Given the description of an element on the screen output the (x, y) to click on. 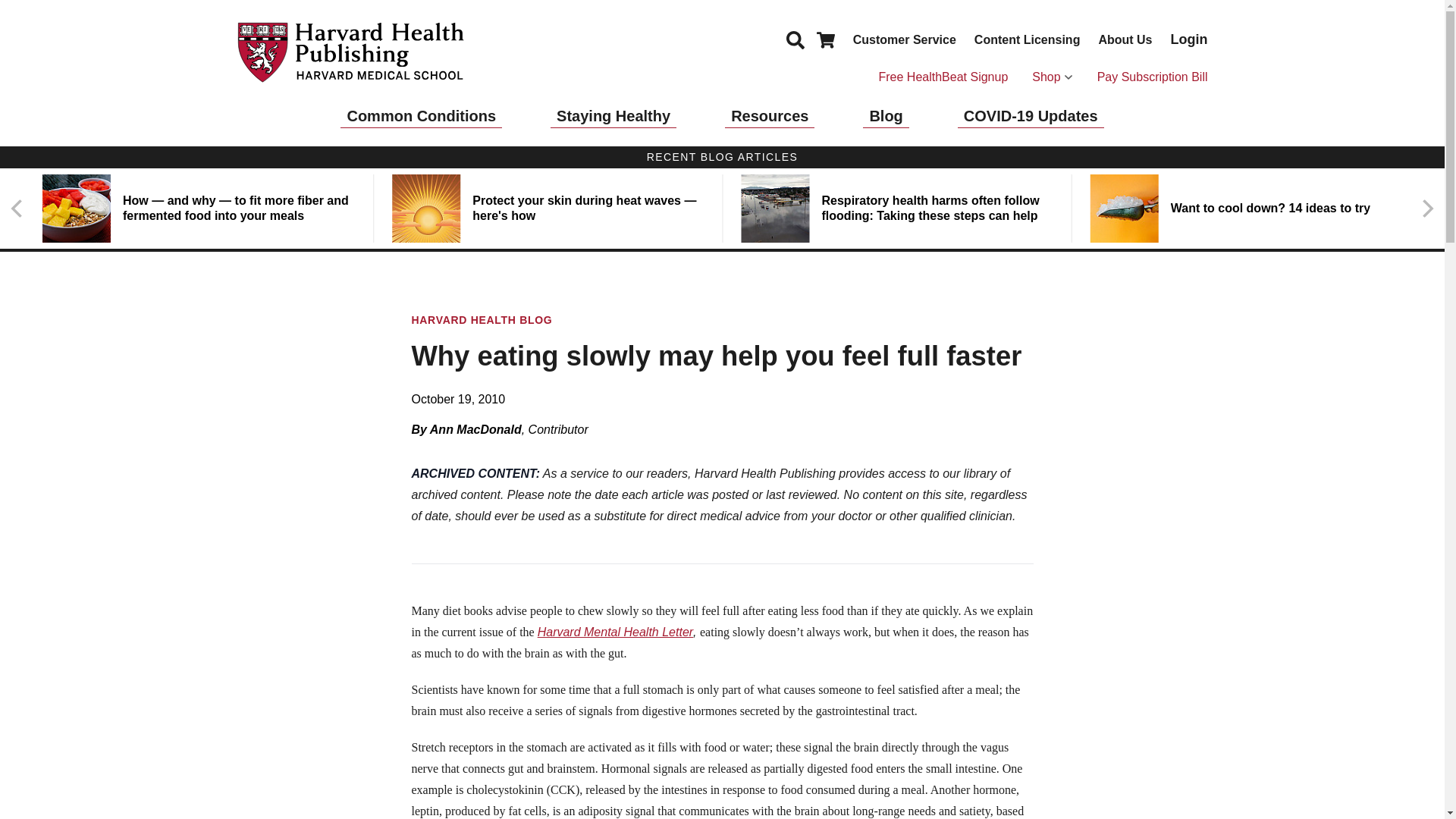
Shop (1051, 76)
Search (795, 39)
Content Licensing (1027, 39)
Common Conditions (421, 115)
Shopping Cart (825, 39)
Customer Service (904, 39)
Blog (885, 115)
Want to cool down? 14 ideas to try (1246, 208)
Pay Subscription Bill (1152, 76)
